Given the description of an element on the screen output the (x, y) to click on. 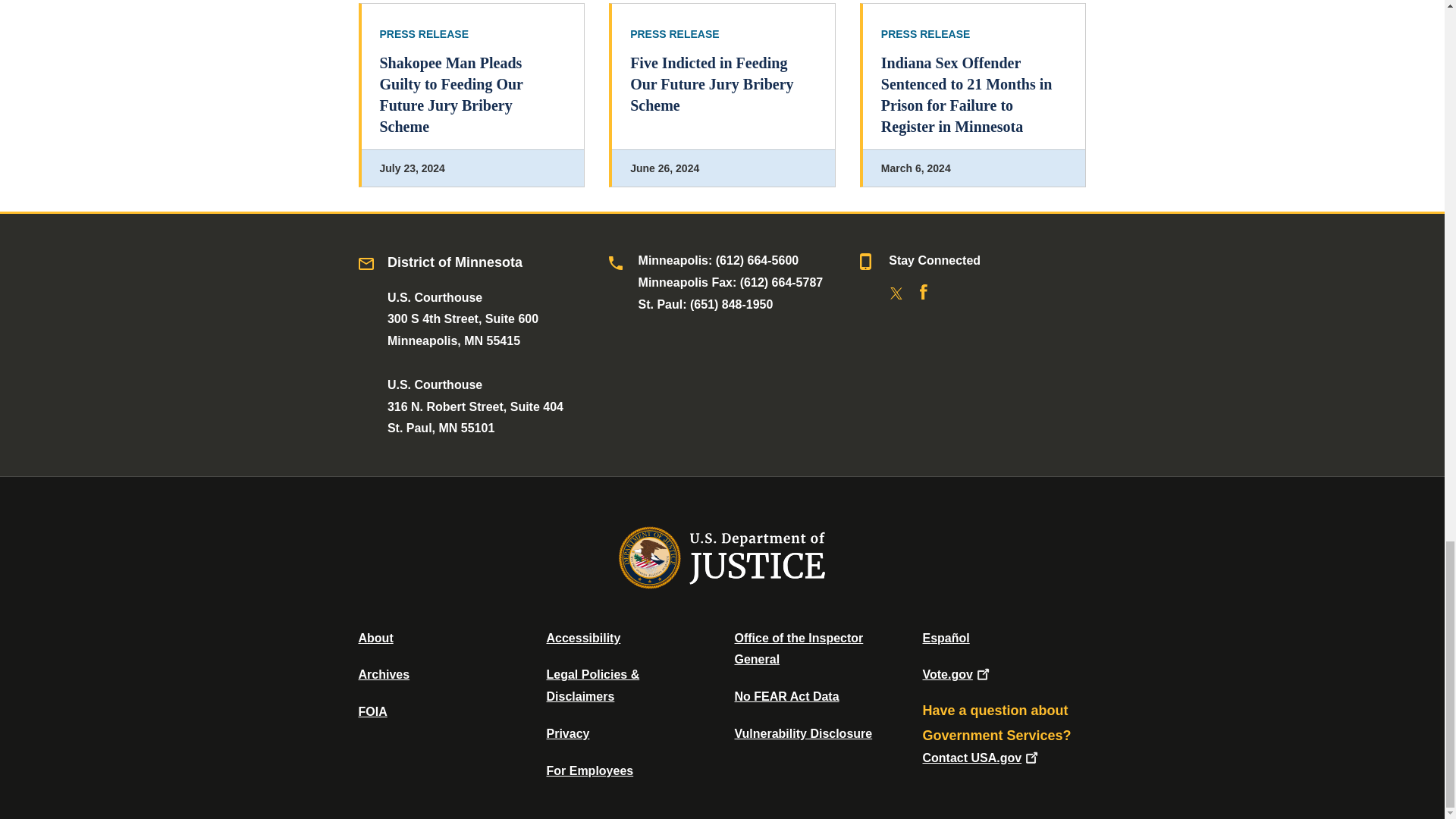
Department of Justice Archive (383, 674)
Data Posted Pursuant To The No Fear Act (785, 696)
For Employees (589, 770)
Accessibility Statement (583, 637)
About DOJ (375, 637)
Office of Information Policy (372, 711)
Legal Policies and Disclaimers (592, 685)
